Given the description of an element on the screen output the (x, y) to click on. 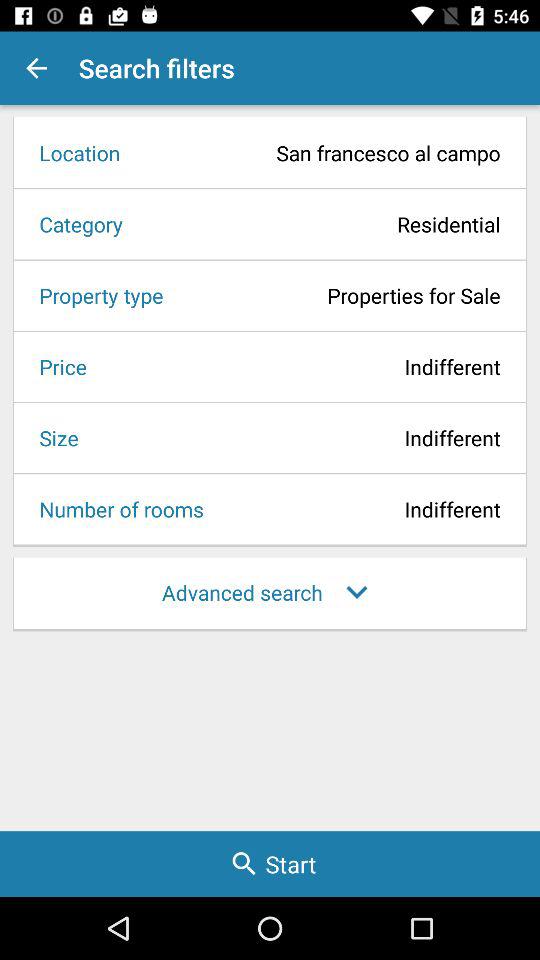
select icon above size icon (56, 366)
